Given the description of an element on the screen output the (x, y) to click on. 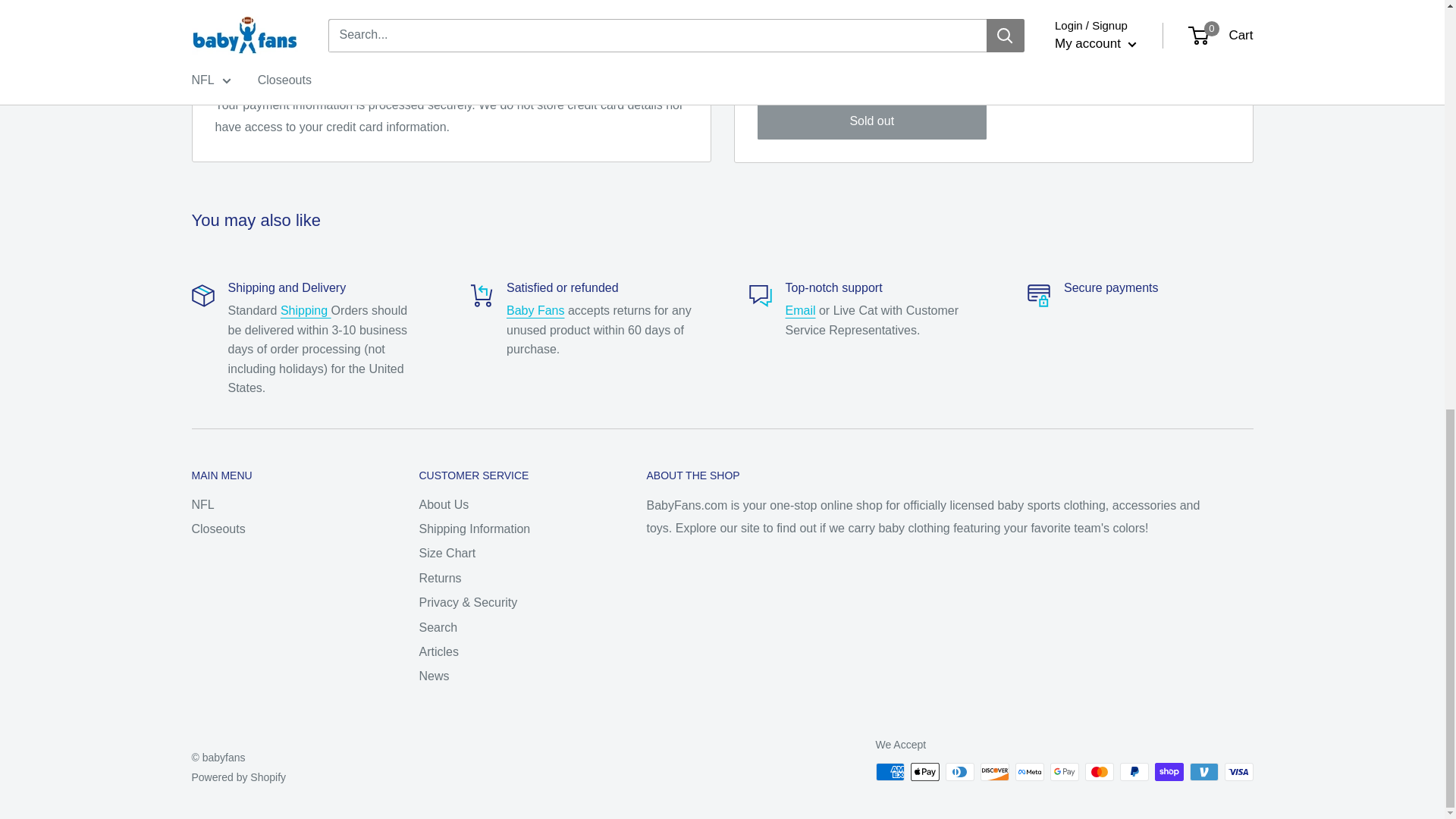
Contact Us (800, 309)
Returns (535, 309)
Shipping Policy (306, 309)
